Given the description of an element on the screen output the (x, y) to click on. 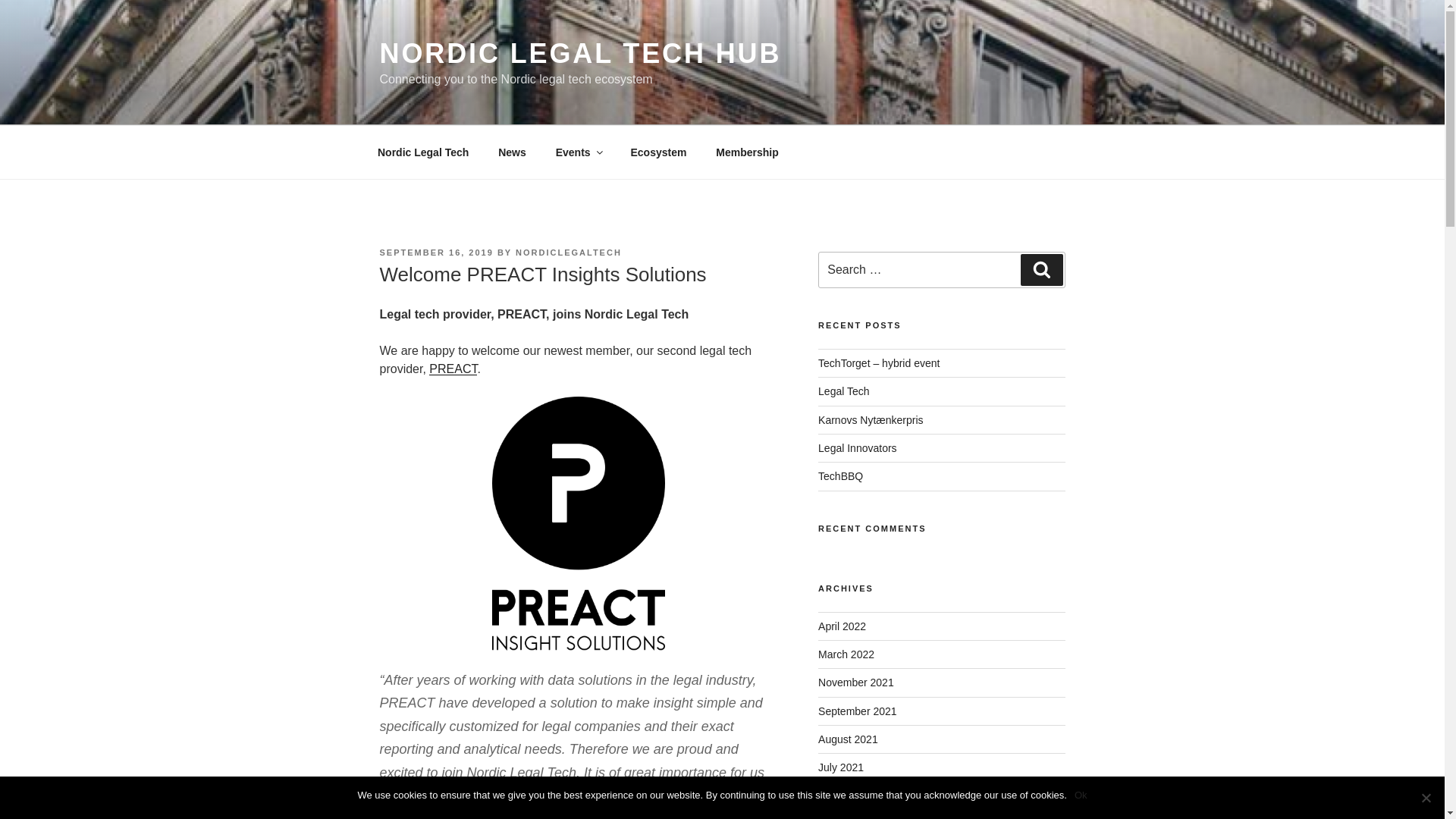
Nordic Legal Tech (422, 151)
March 2022 (846, 654)
Membership (747, 151)
November 2021 (855, 682)
Legal Tech (843, 390)
Search (1041, 269)
March 2021 (846, 796)
NORDIC LEGAL TECH HUB (579, 52)
April 2022 (842, 625)
News (512, 151)
